Given the description of an element on the screen output the (x, y) to click on. 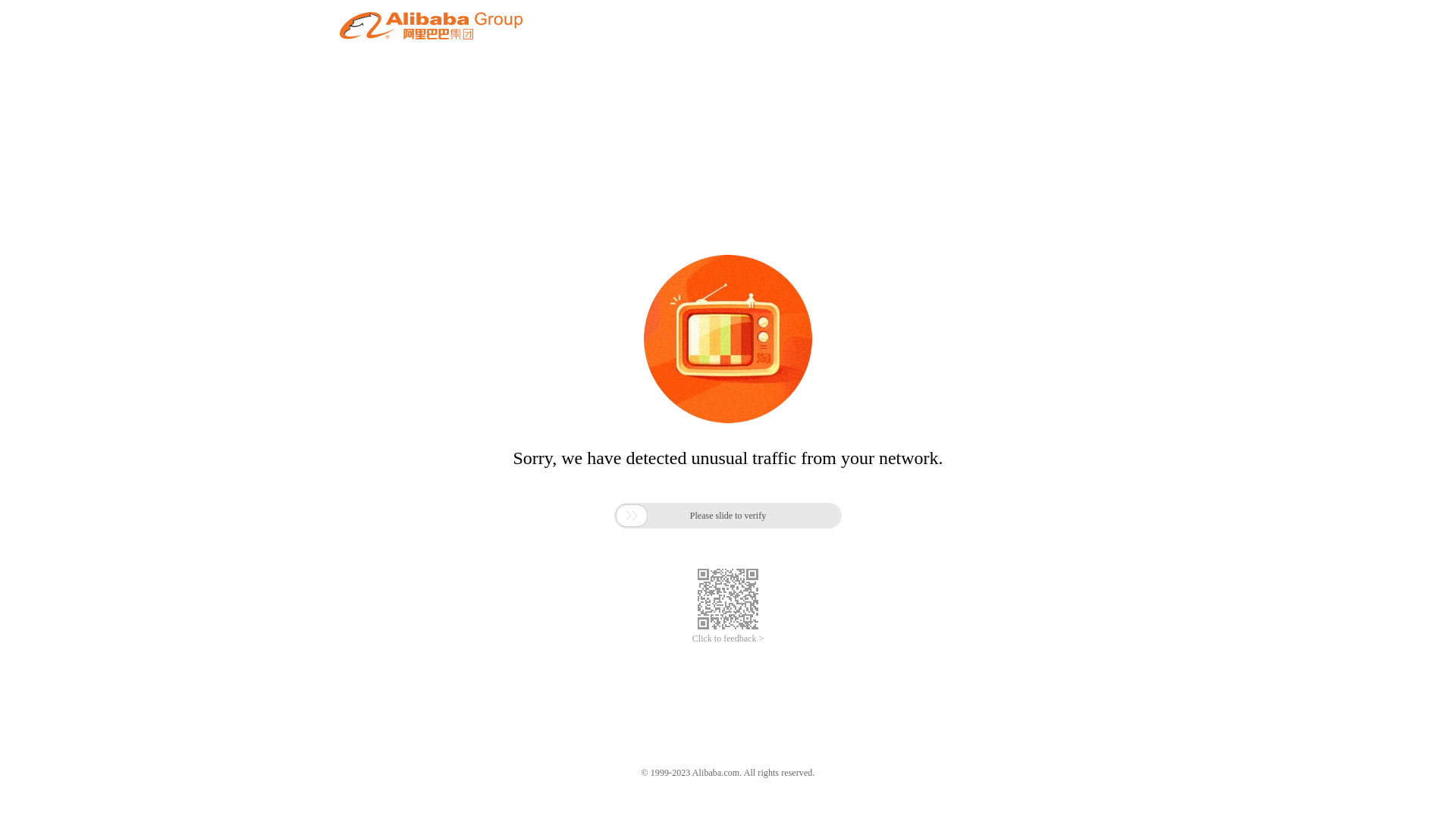
Click to feedback > Element type: text (727, 638)
